Given the description of an element on the screen output the (x, y) to click on. 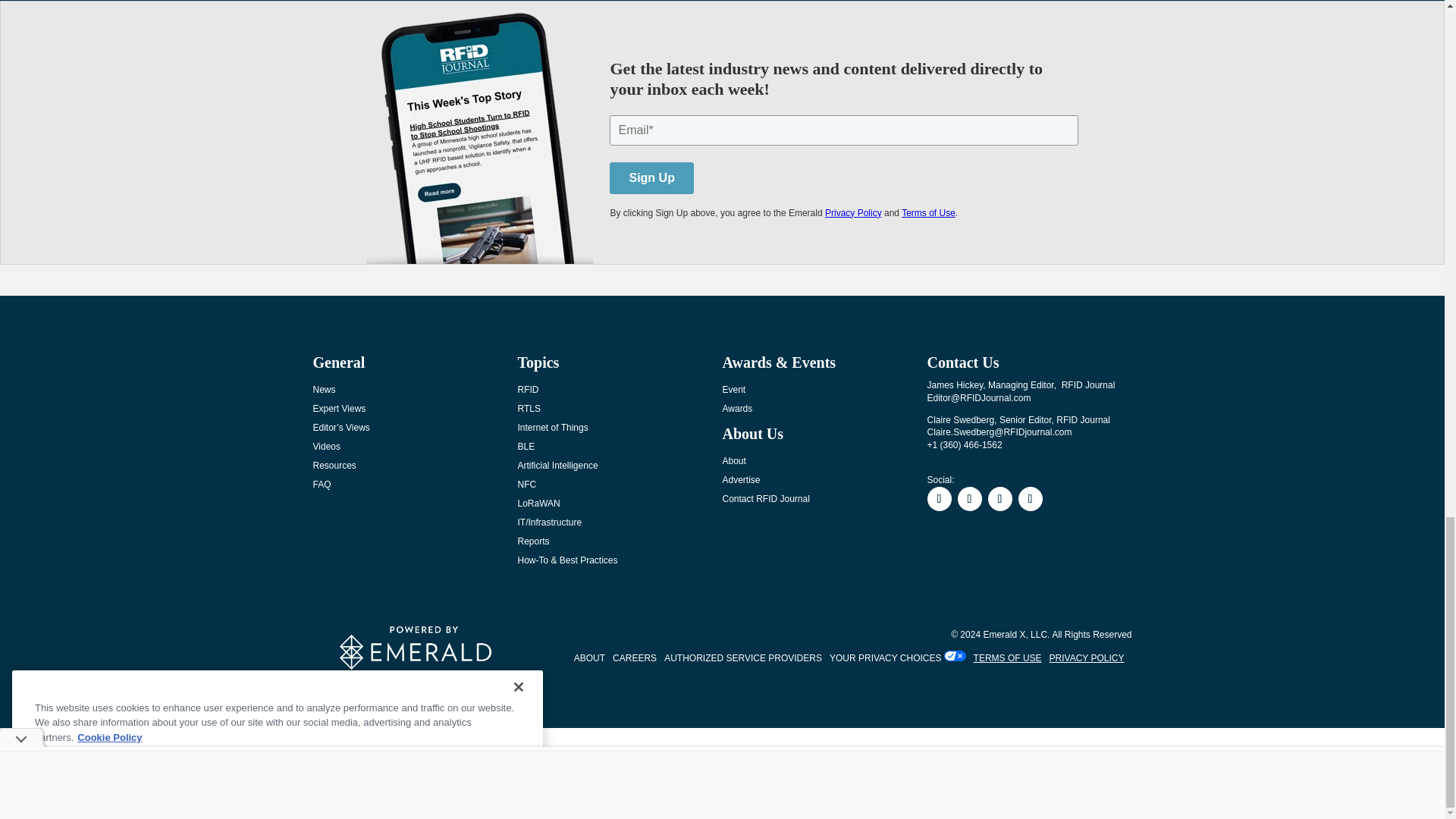
Follow on LinkedIn (968, 498)
Follow on X (999, 498)
Follow on Facebook (938, 498)
